Given the description of an element on the screen output the (x, y) to click on. 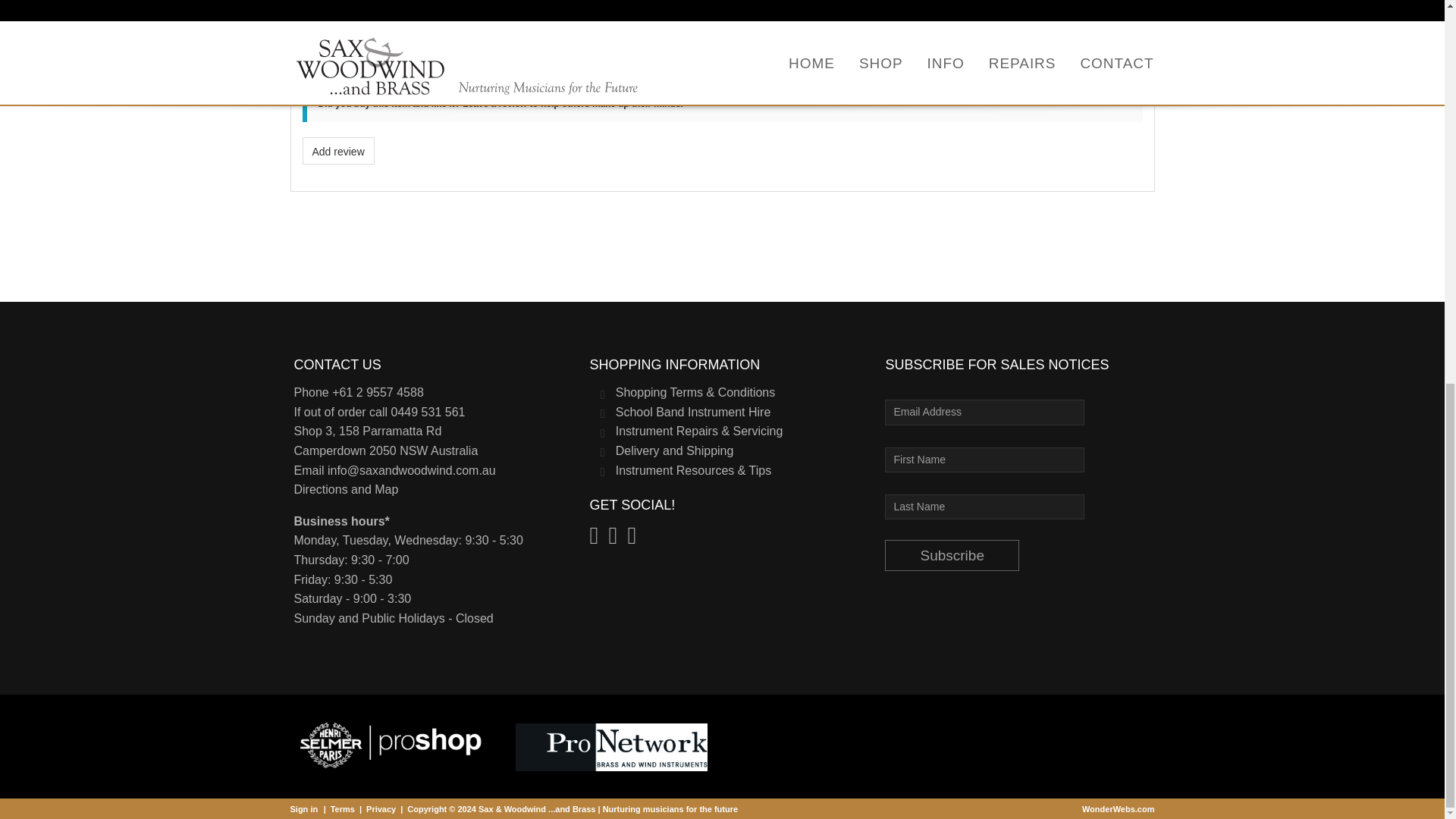
Specifications (340, 31)
Reviews (428, 31)
Delivery and Shipping (674, 450)
School Band Instrument Hire (693, 411)
Directions and Map (346, 489)
Sign in (303, 809)
Add review (337, 150)
